Given the description of an element on the screen output the (x, y) to click on. 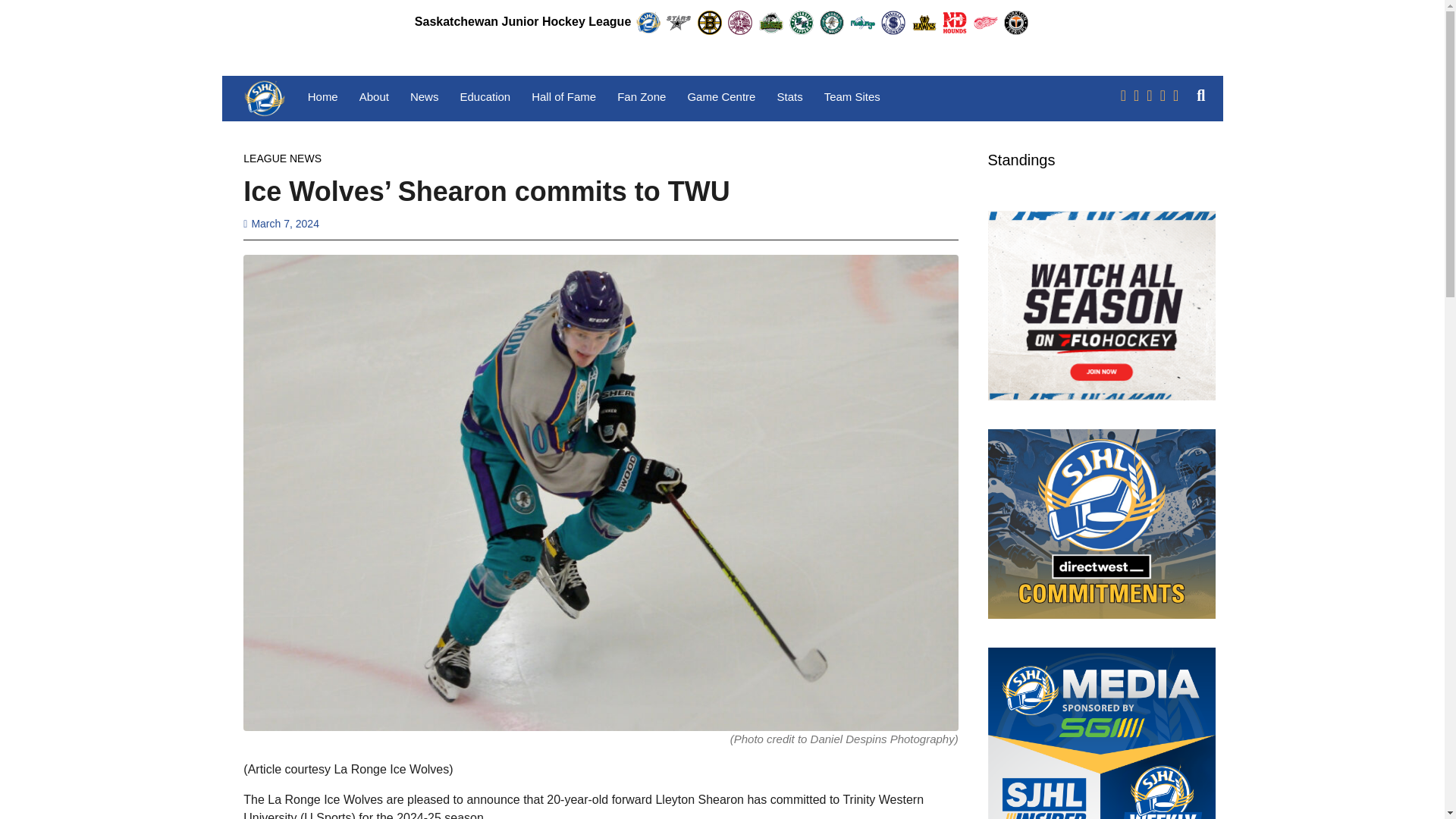
Humboldt Broncos (770, 22)
Weyburn Red Wings (985, 22)
Saskatchewan Junior Hockey League (648, 22)
Melfort Mustangs (862, 22)
Nipawin Hawks (924, 22)
La Ronge Ice Wolves (831, 22)
Yorkton Terriers (1016, 22)
Notre Dame Hounds (954, 22)
Kindersley Klippers (801, 22)
Melville Millionaires (893, 22)
Estevan Bruins (709, 22)
Flin Flon Bombers (740, 22)
Battlefords North Stars (679, 22)
